Given the description of an element on the screen output the (x, y) to click on. 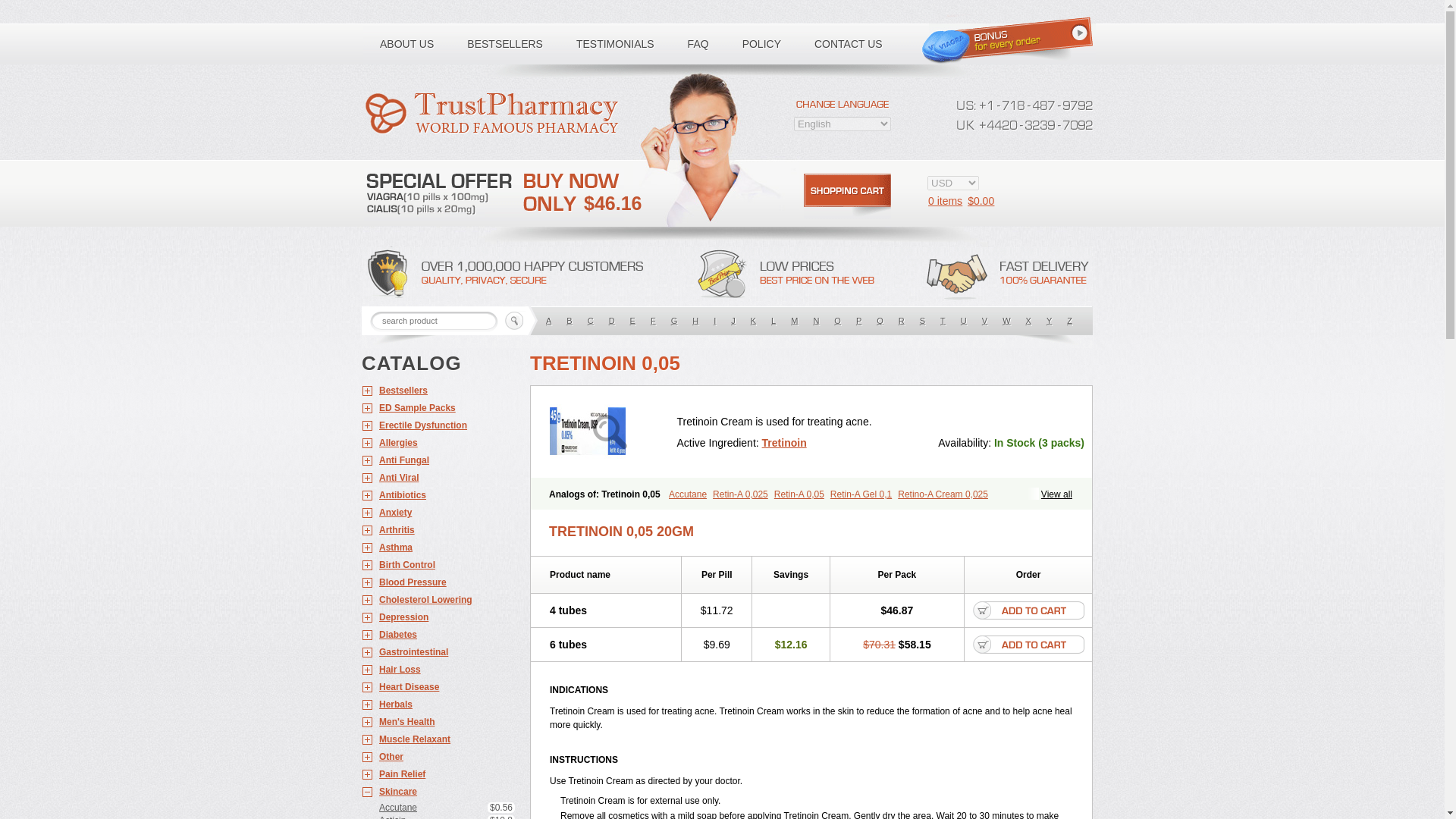
ABOUT US (405, 43)
Bestsellers (438, 390)
FAQ (698, 43)
CONTACT US (848, 43)
Tretinoin 0,05 (609, 431)
POLICY (761, 43)
BESTSELLERS (504, 43)
TESTIMONIALS (615, 43)
